Given the description of an element on the screen output the (x, y) to click on. 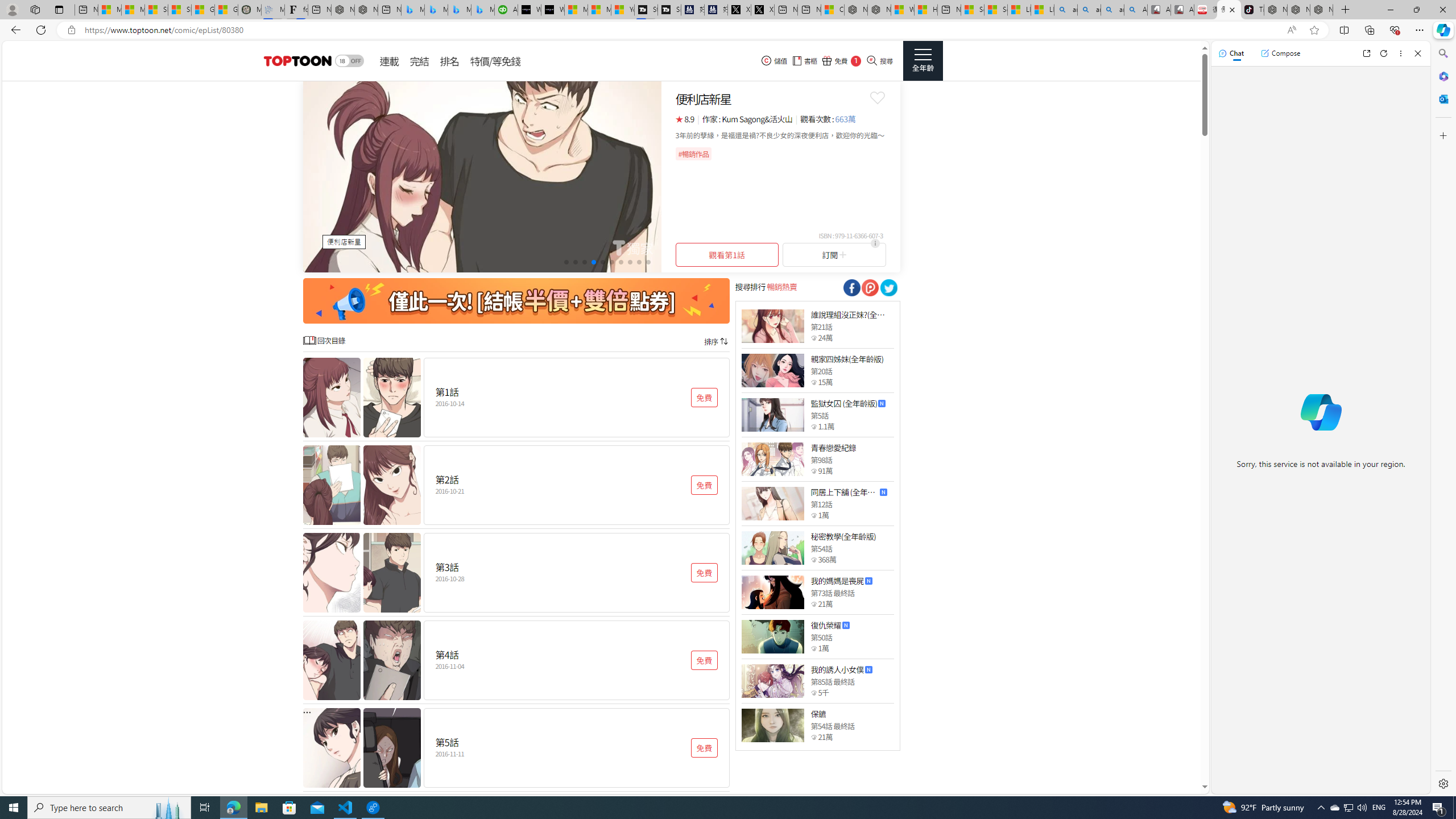
Split screen (1344, 29)
Nordace - Siena Pro 15 Essential Set (1321, 9)
Go to slide 7 (620, 261)
Microsoft Start (598, 9)
